Given the description of an element on the screen output the (x, y) to click on. 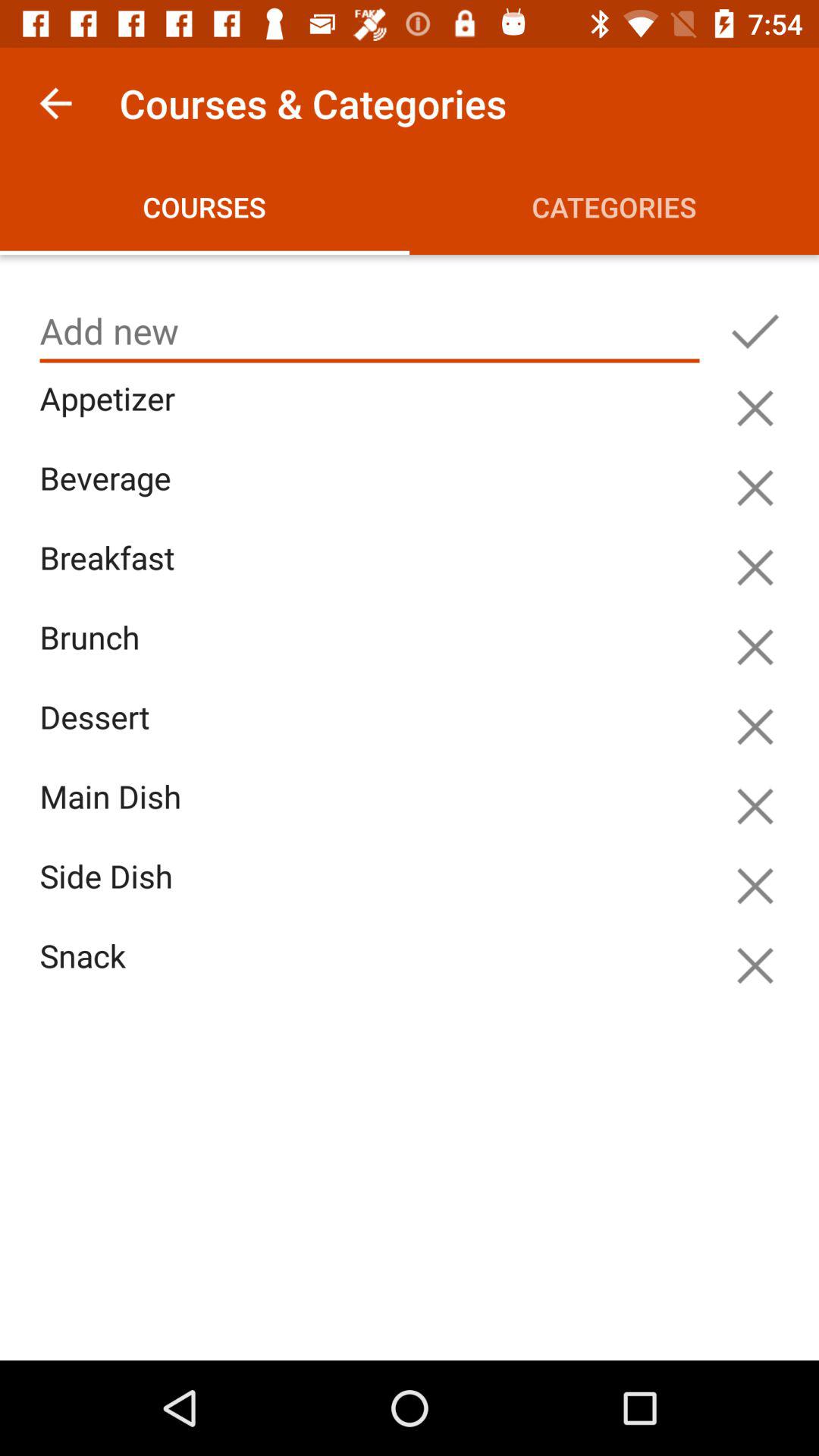
remove course from list (755, 885)
